Given the description of an element on the screen output the (x, y) to click on. 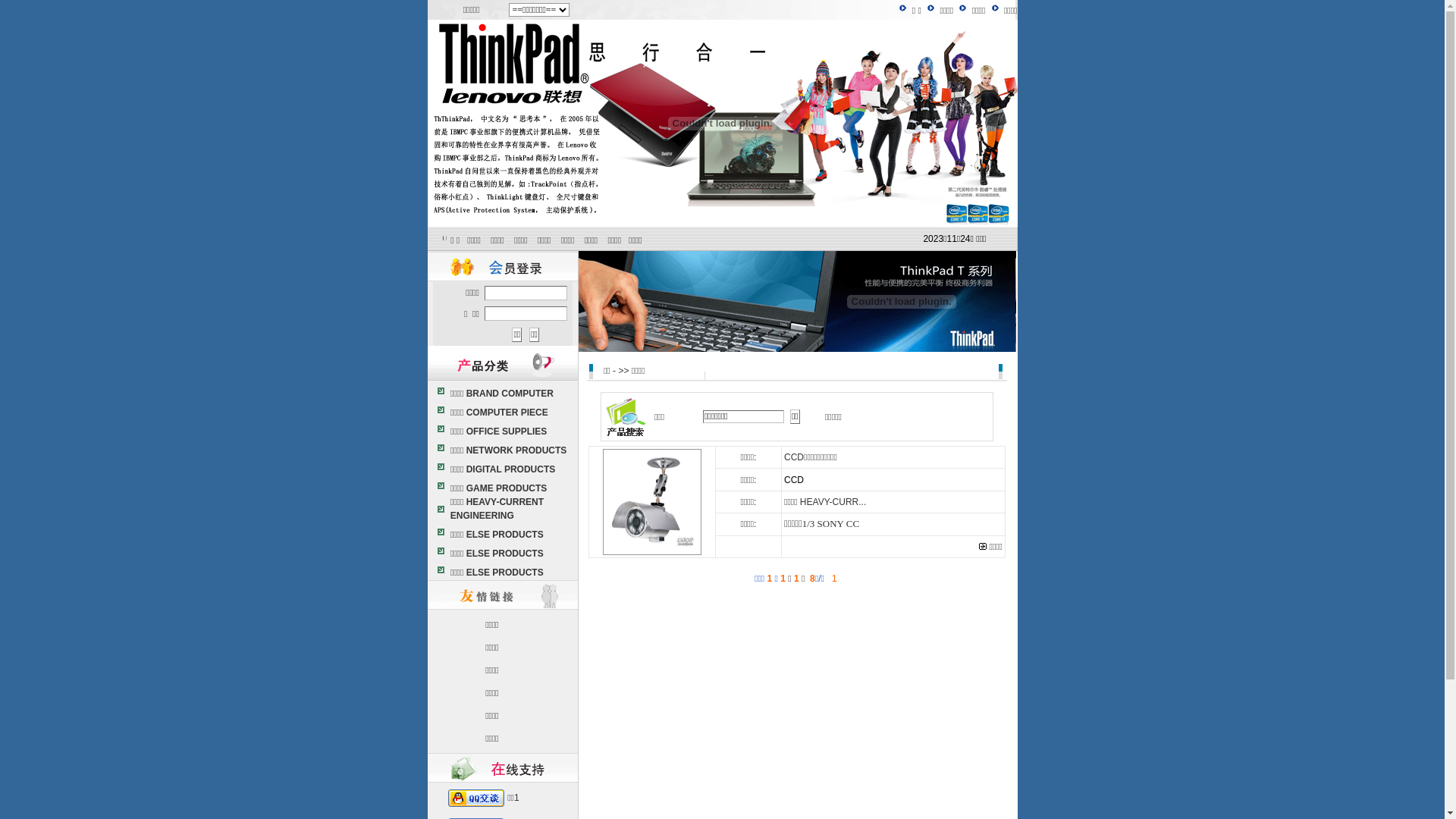
CCD Element type: text (793, 479)
